Given the description of an element on the screen output the (x, y) to click on. 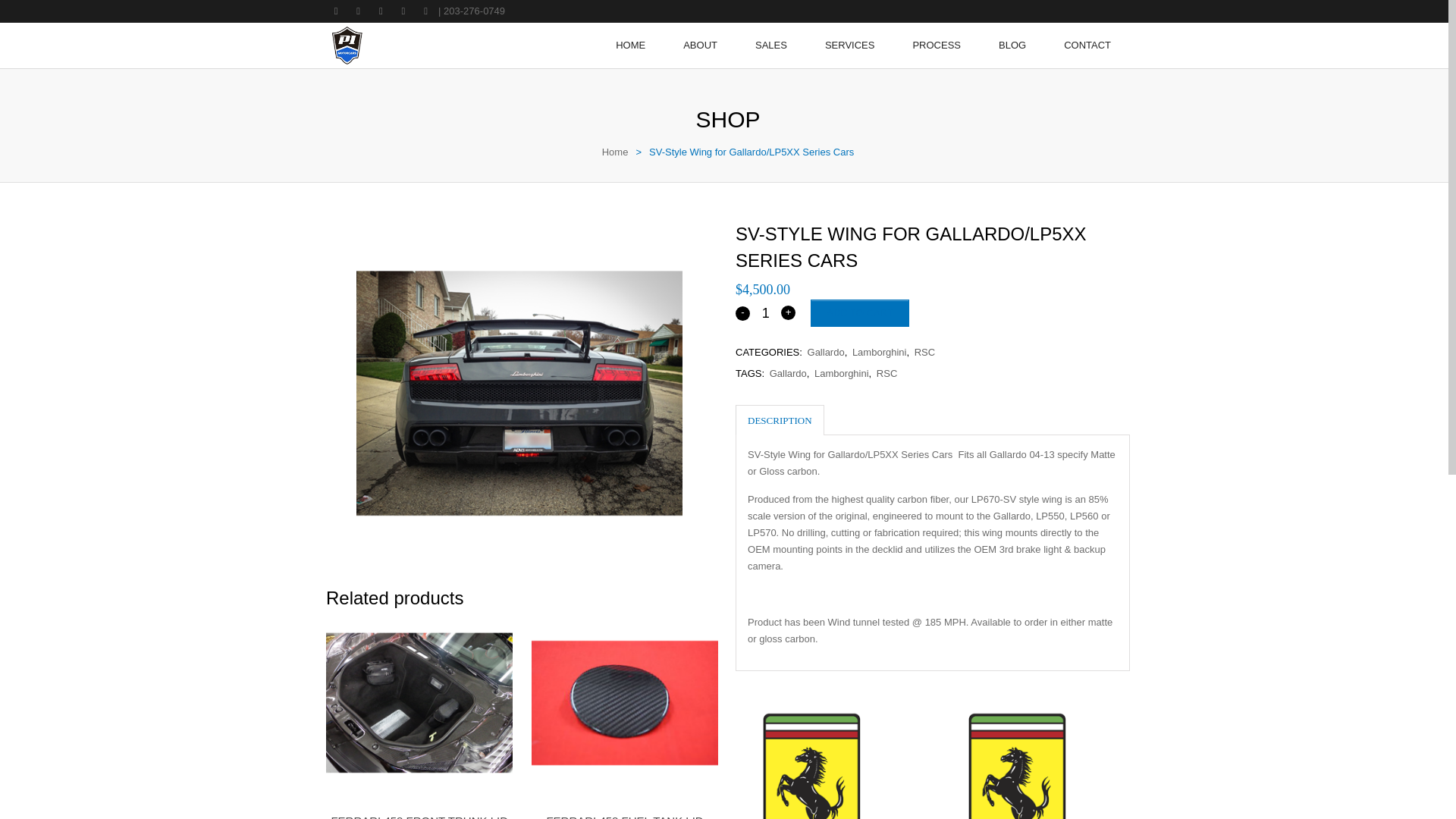
HOME (629, 44)
BLOG (1012, 44)
PROCESS (936, 44)
SALES (771, 44)
SERVICES (849, 44)
Qty (765, 312)
SV-Style Wing for Gallardo LP5XX Series Cars (519, 393)
- (742, 313)
CONTACT (1087, 44)
Home (615, 152)
1 (765, 312)
ABOUT (699, 44)
